Given the description of an element on the screen output the (x, y) to click on. 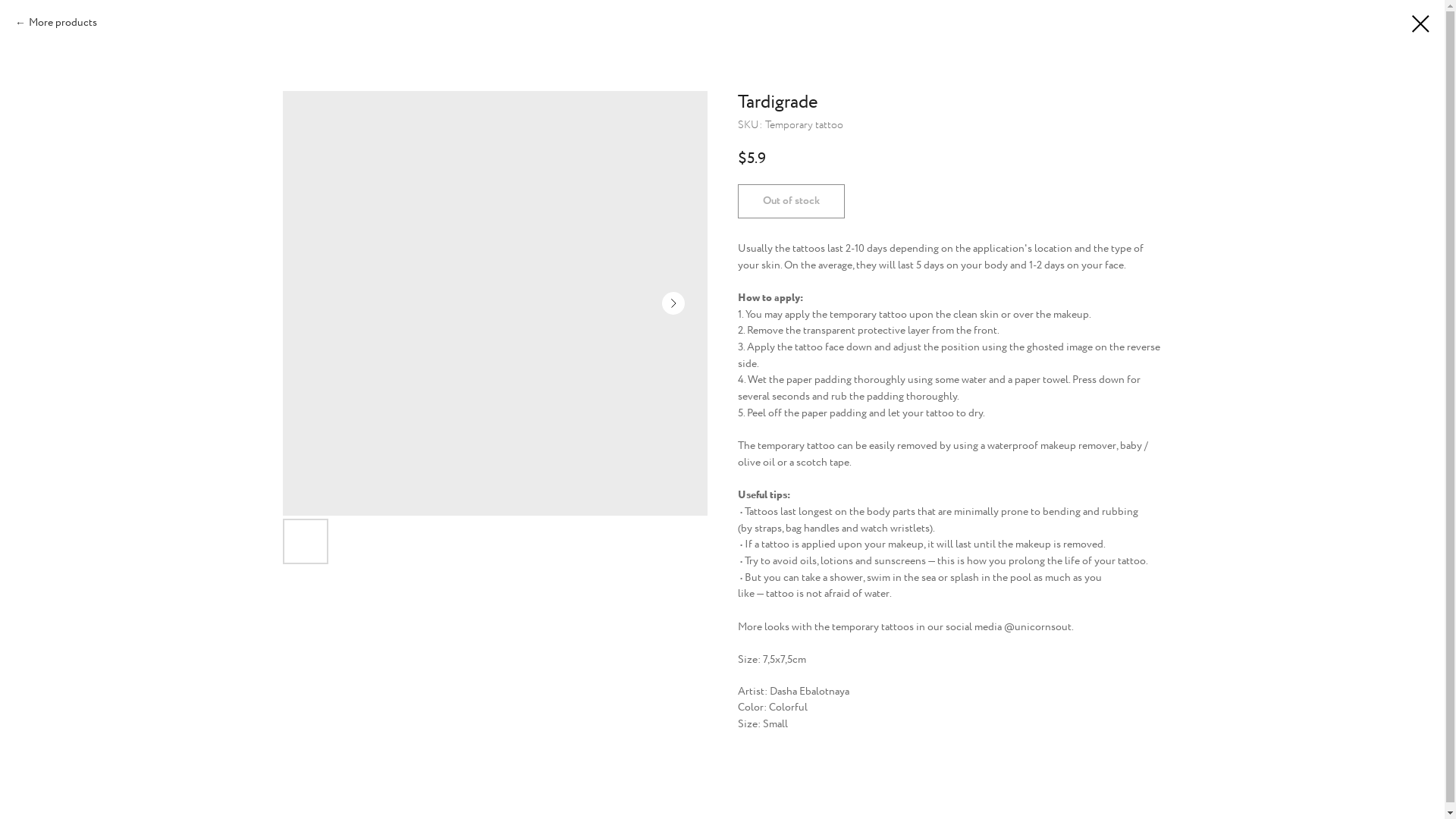
Out of stock (790, 201)
More products (55, 23)
